Given the description of an element on the screen output the (x, y) to click on. 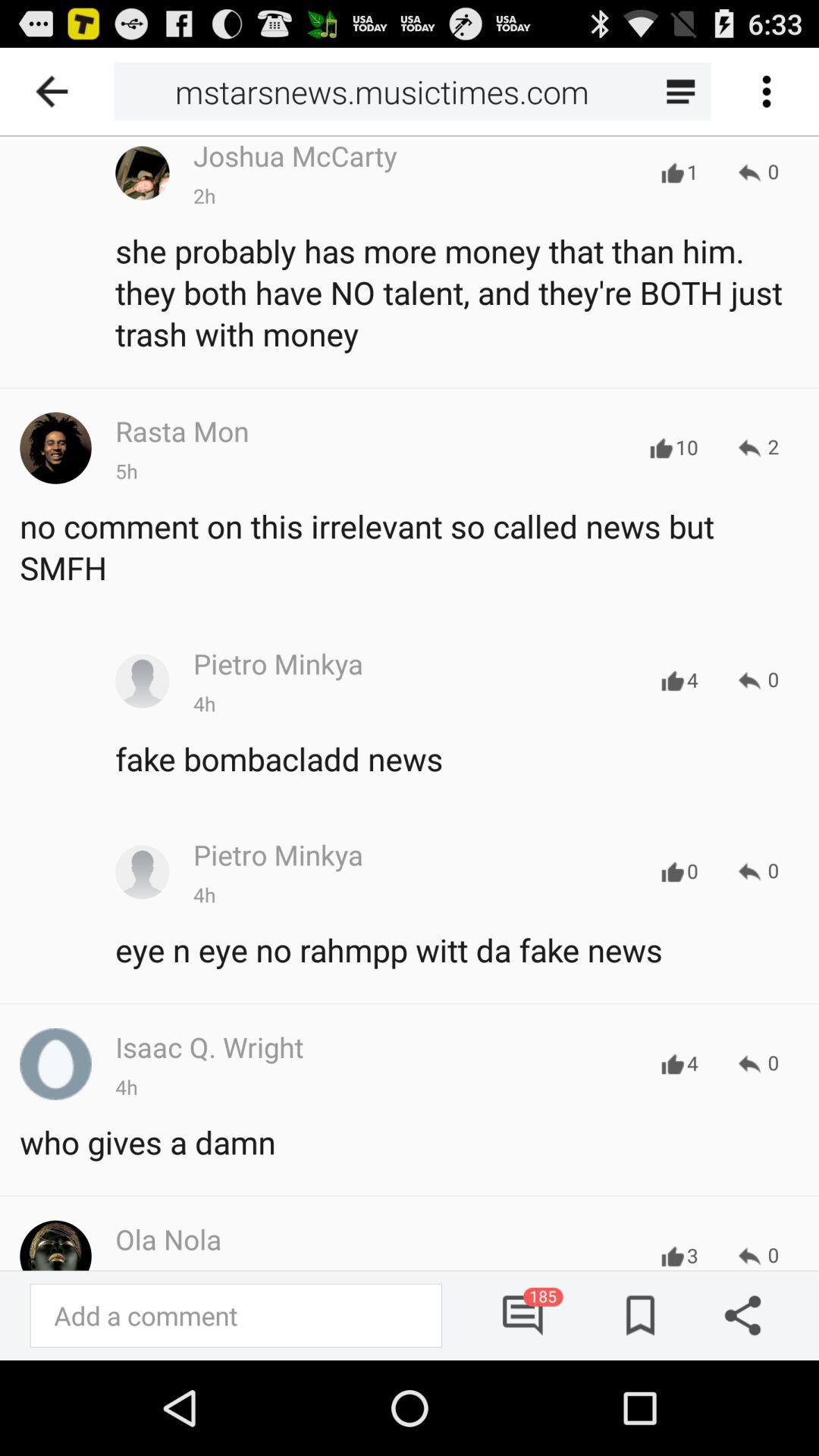
click on like button with zero (672, 871)
click on profile image under the text fake bombacladd news (142, 872)
click on add a comment (236, 1316)
click on menu (765, 91)
